Given the description of an element on the screen output the (x, y) to click on. 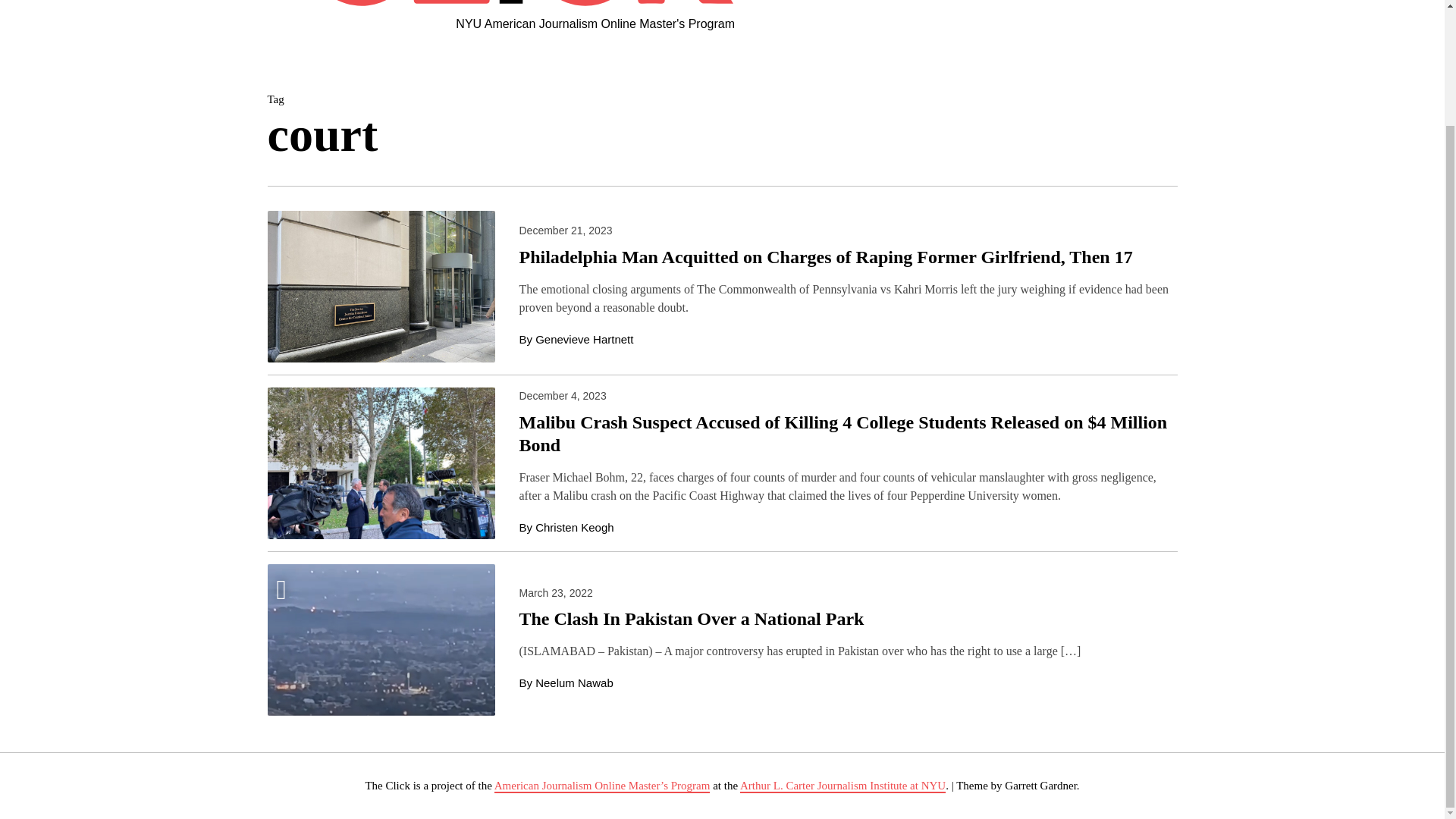
The Click (462, 3)
Arthur L. Carter Journalism Institute at NYU (841, 786)
NYU American Journalism Online Master's Program (595, 24)
